Given the description of an element on the screen output the (x, y) to click on. 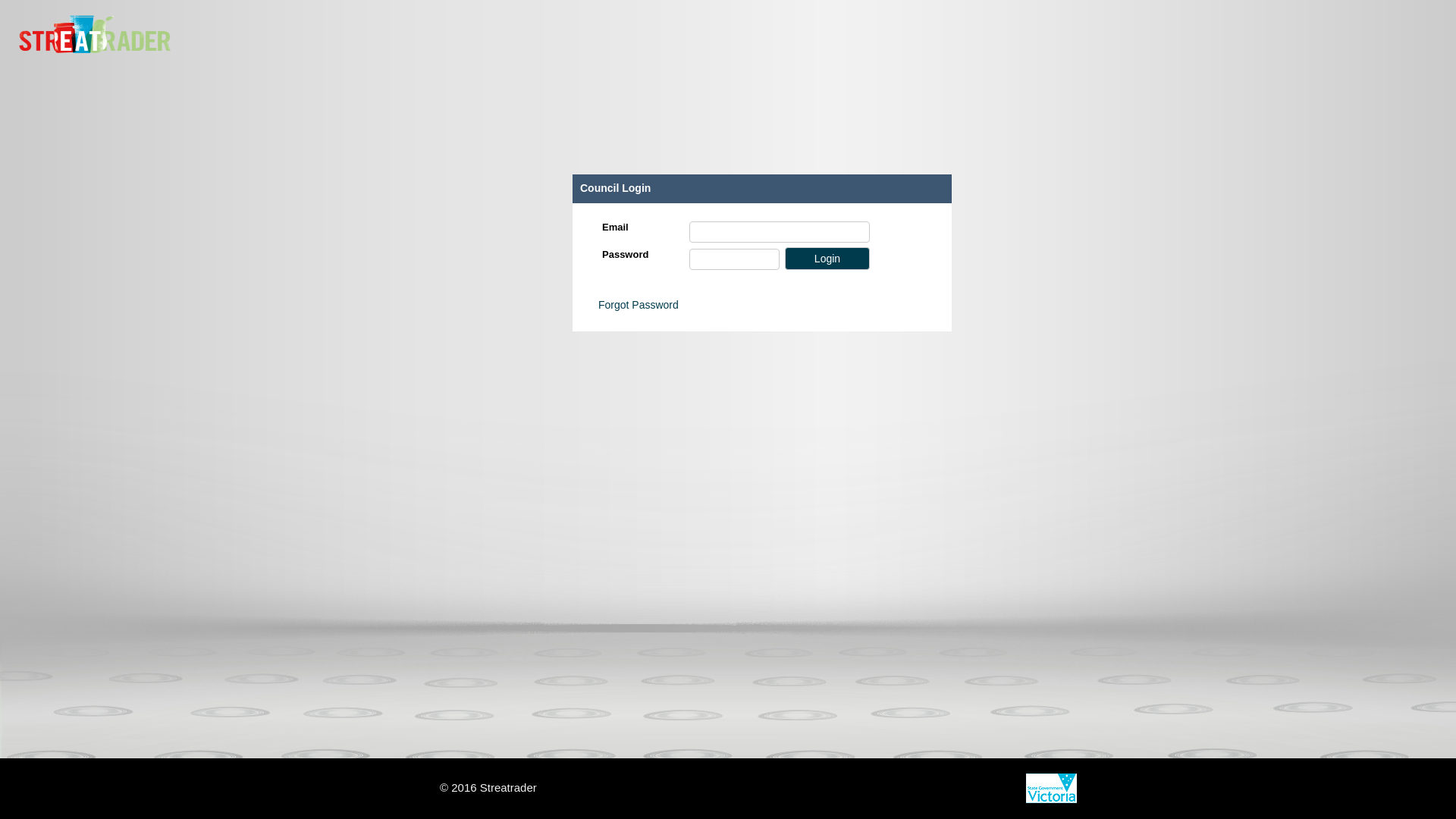
Login to Streatrader Element type: hover (826, 258)
Login Element type: text (826, 258)
Forgot Password Element type: text (638, 304)
